Given the description of an element on the screen output the (x, y) to click on. 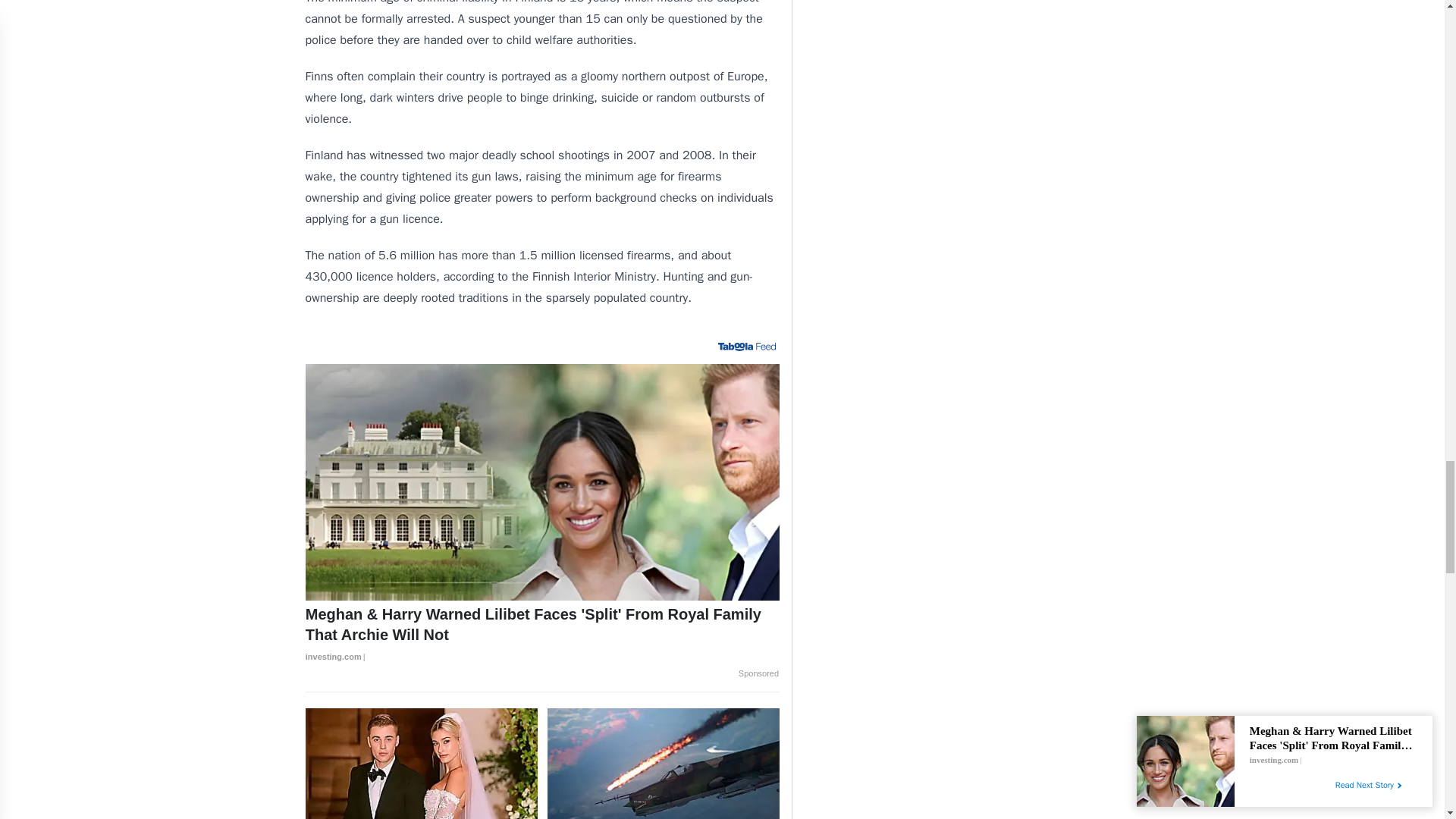
Hailey Bieber's Wedding Dress Made Guests Uncomfortable (421, 763)
